Given the description of an element on the screen output the (x, y) to click on. 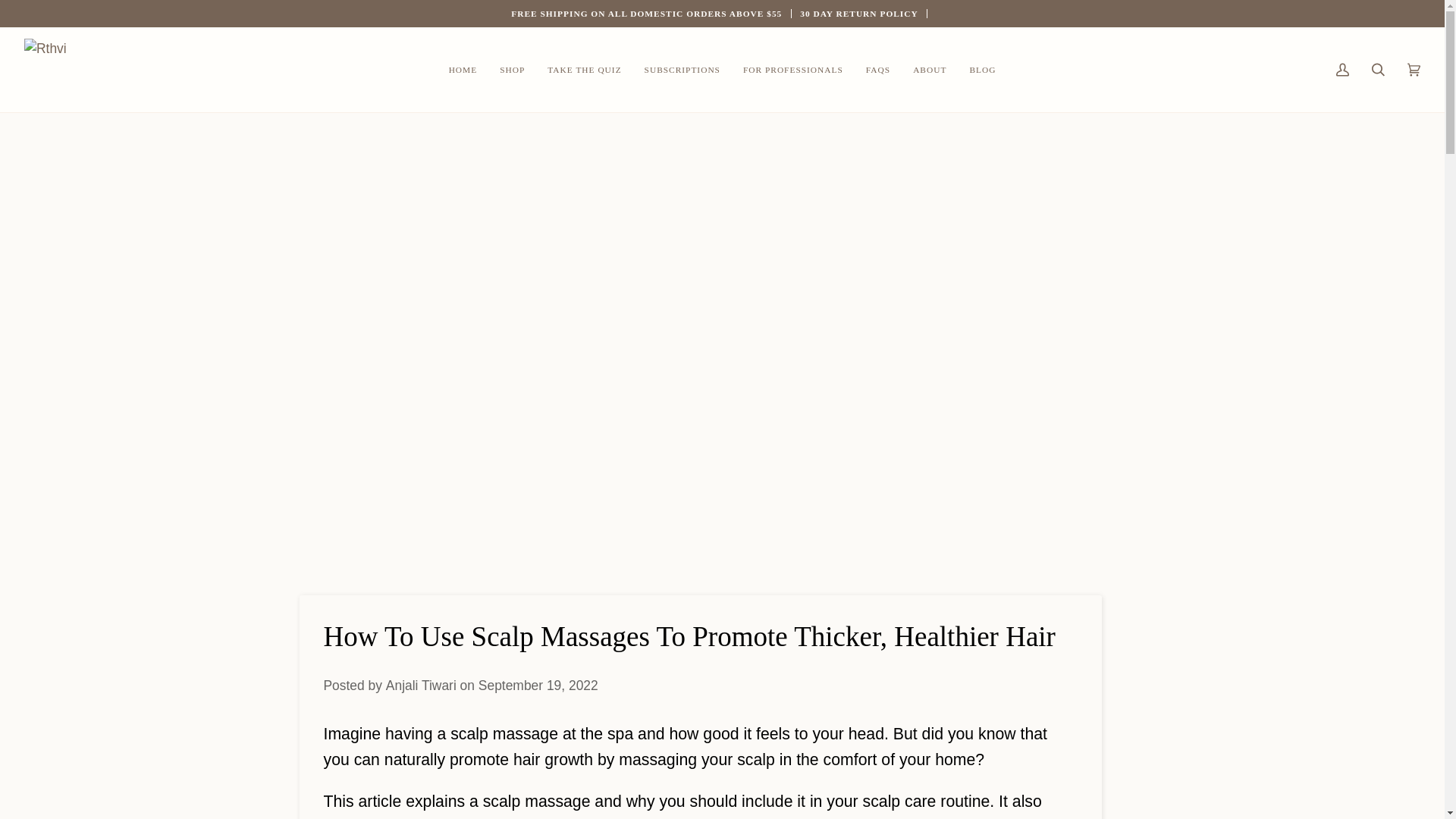
TAKE THE QUIZ (583, 69)
FOR PROFESSIONALS (793, 69)
SUBSCRIPTIONS (682, 69)
